Given the description of an element on the screen output the (x, y) to click on. 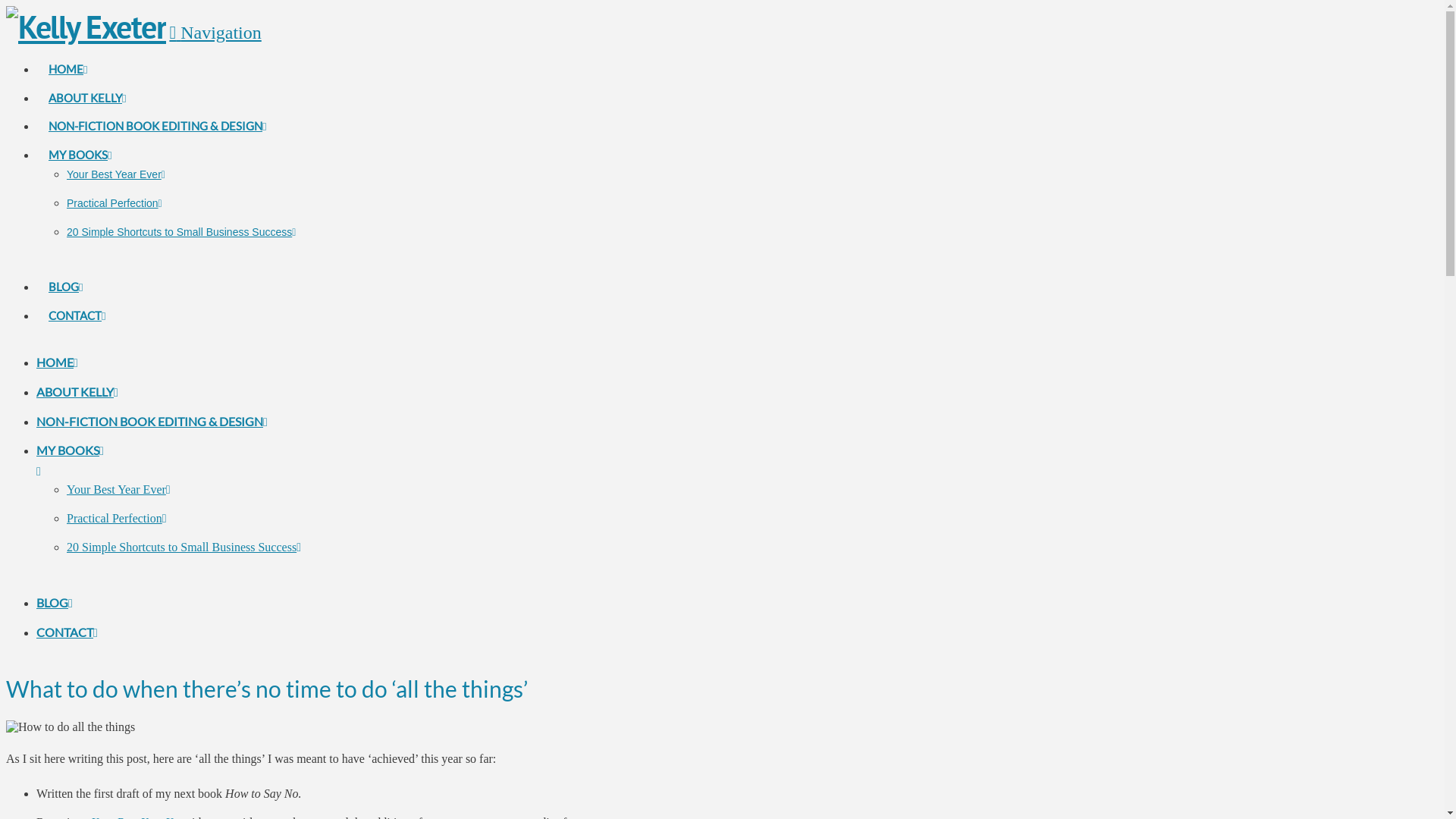
Your Best Year Ever Element type: text (115, 174)
NON-FICTION BOOK EDITING & DESIGN Element type: text (157, 104)
20 Simple Shortcuts to Small Business Success Element type: text (183, 545)
Navigation Element type: text (214, 32)
HOME Element type: text (57, 361)
Practical Perfection Element type: text (114, 203)
Your Best Year Ever Element type: text (118, 489)
ABOUT KELLY Element type: text (77, 391)
NON-FICTION BOOK EDITING & DESIGN Element type: text (151, 421)
Practical Perfection Element type: text (116, 517)
20 Simple Shortcuts to Small Business Success Element type: text (180, 231)
MY BOOKS Element type: text (476, 461)
BLOG Element type: text (65, 265)
MY BOOKS Element type: text (79, 133)
CONTACT Element type: text (66, 631)
BLOG Element type: text (54, 602)
HOME Element type: text (67, 47)
ABOUT KELLY Element type: text (87, 76)
CONTACT Element type: text (76, 294)
